Given the description of an element on the screen output the (x, y) to click on. 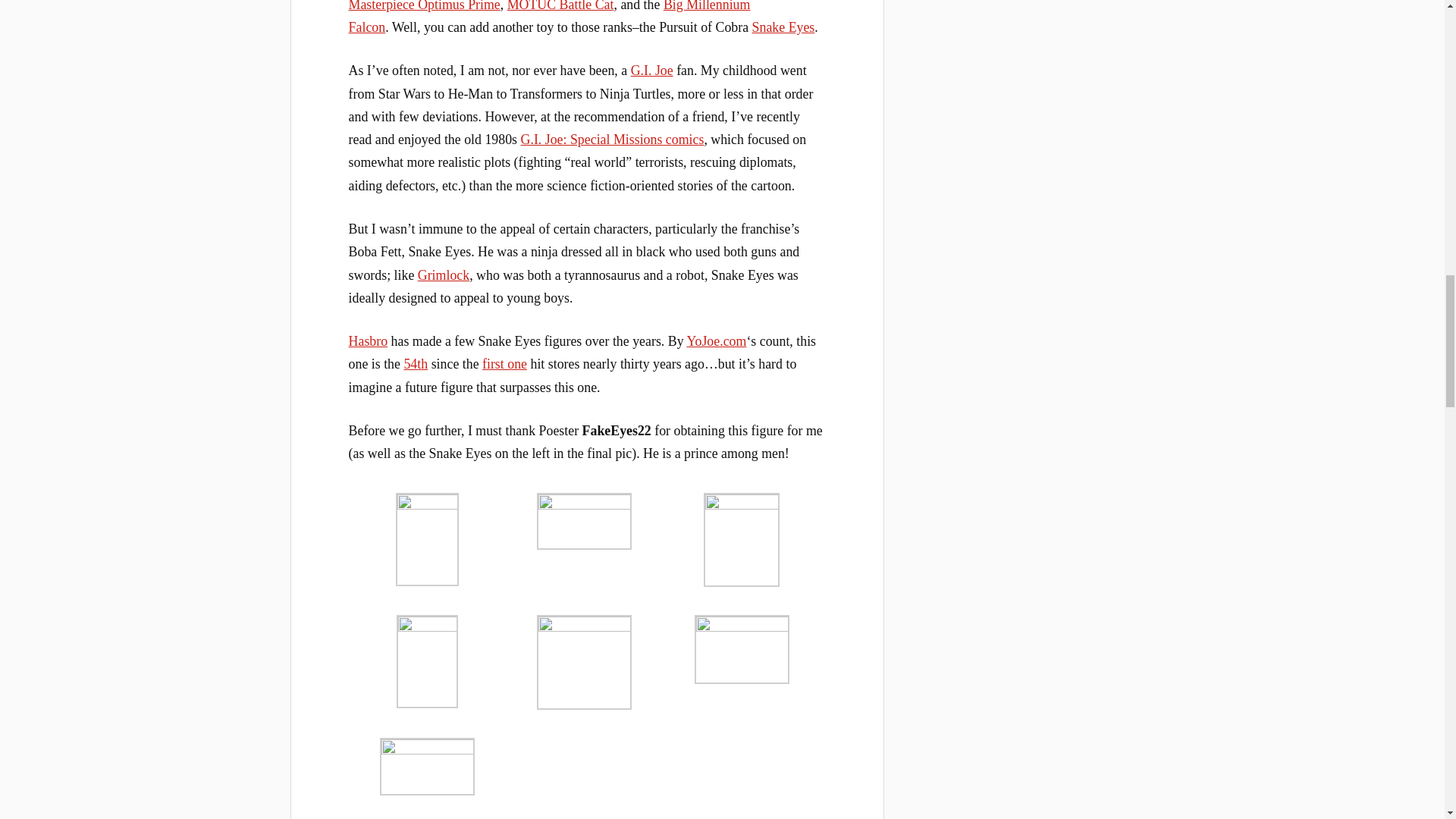
Hasbro (368, 340)
Masterpiece Optimus Prime (424, 6)
Grimlock (442, 274)
first one (504, 363)
Hasbro (368, 340)
G.I. Joe: Special Missions comics (612, 139)
Big Millennium Falcon (550, 17)
YoJoe.com (715, 340)
G.I. Joe (651, 70)
Snake Eyes (783, 27)
G.I. Joe (651, 70)
MOTUC Battle Cat (560, 6)
54th (415, 363)
